Given the description of an element on the screen output the (x, y) to click on. 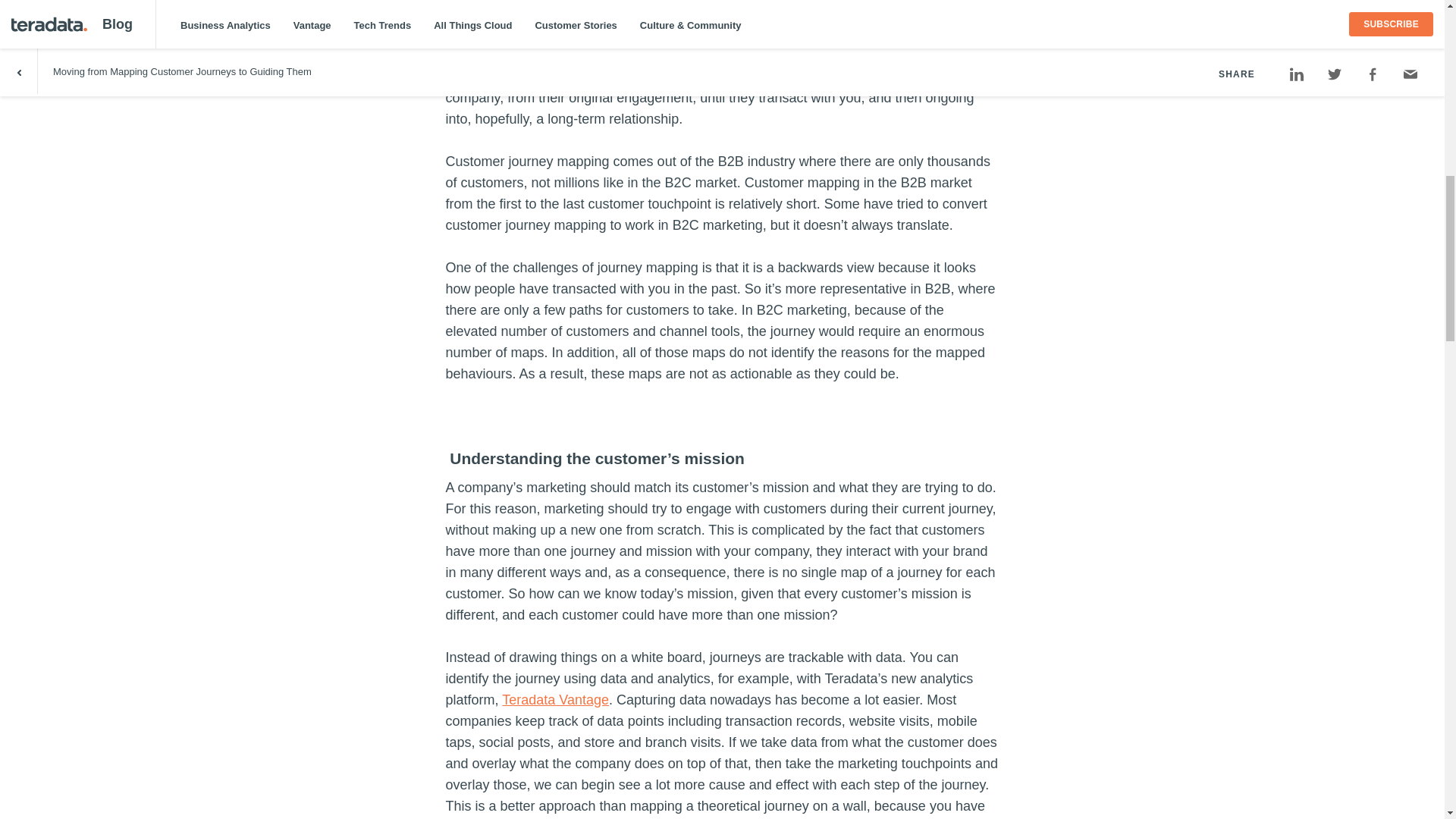
Teradata Vantage (555, 699)
